Given the description of an element on the screen output the (x, y) to click on. 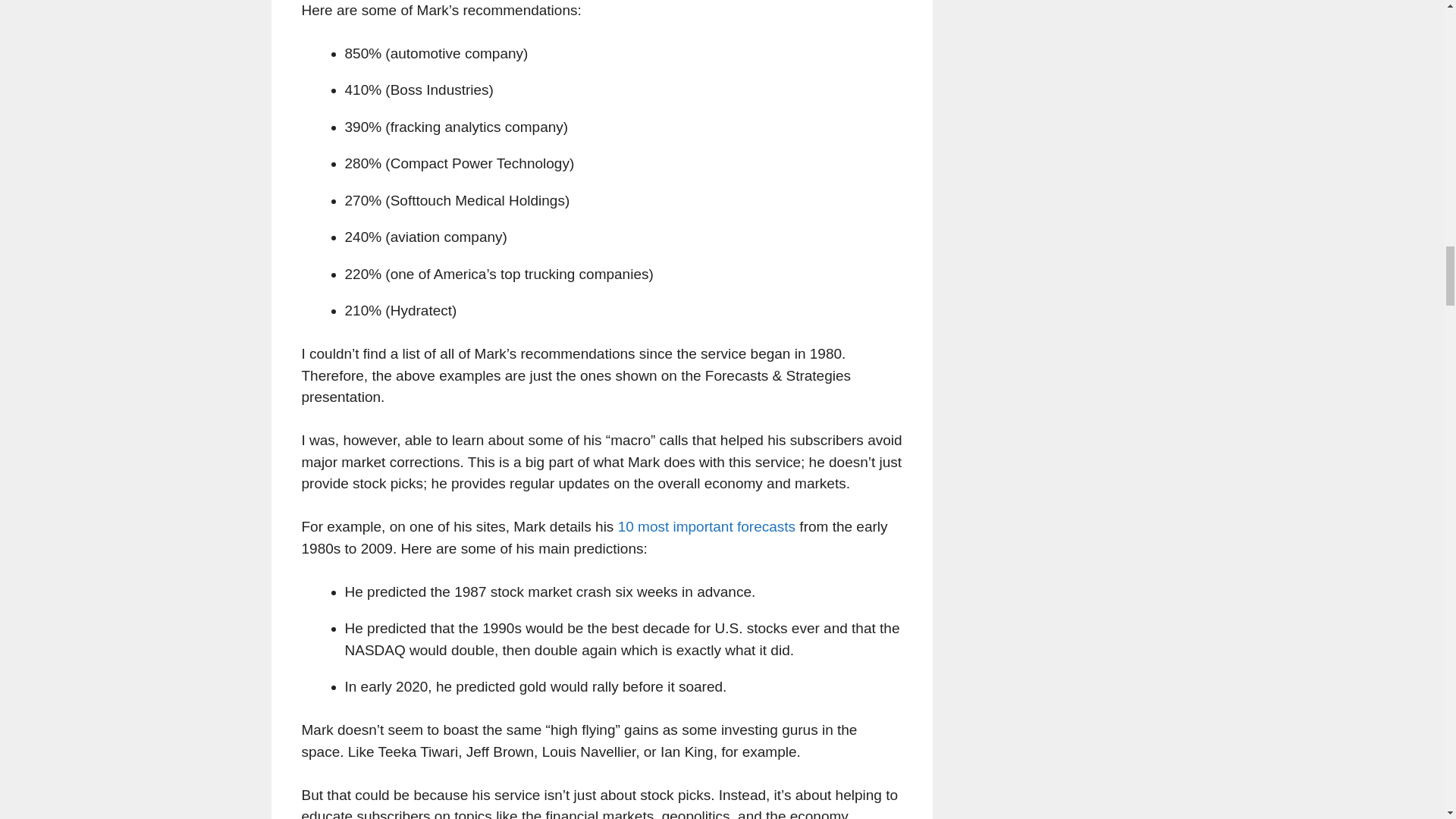
10 most important forecasts (705, 526)
